Given the description of an element on the screen output the (x, y) to click on. 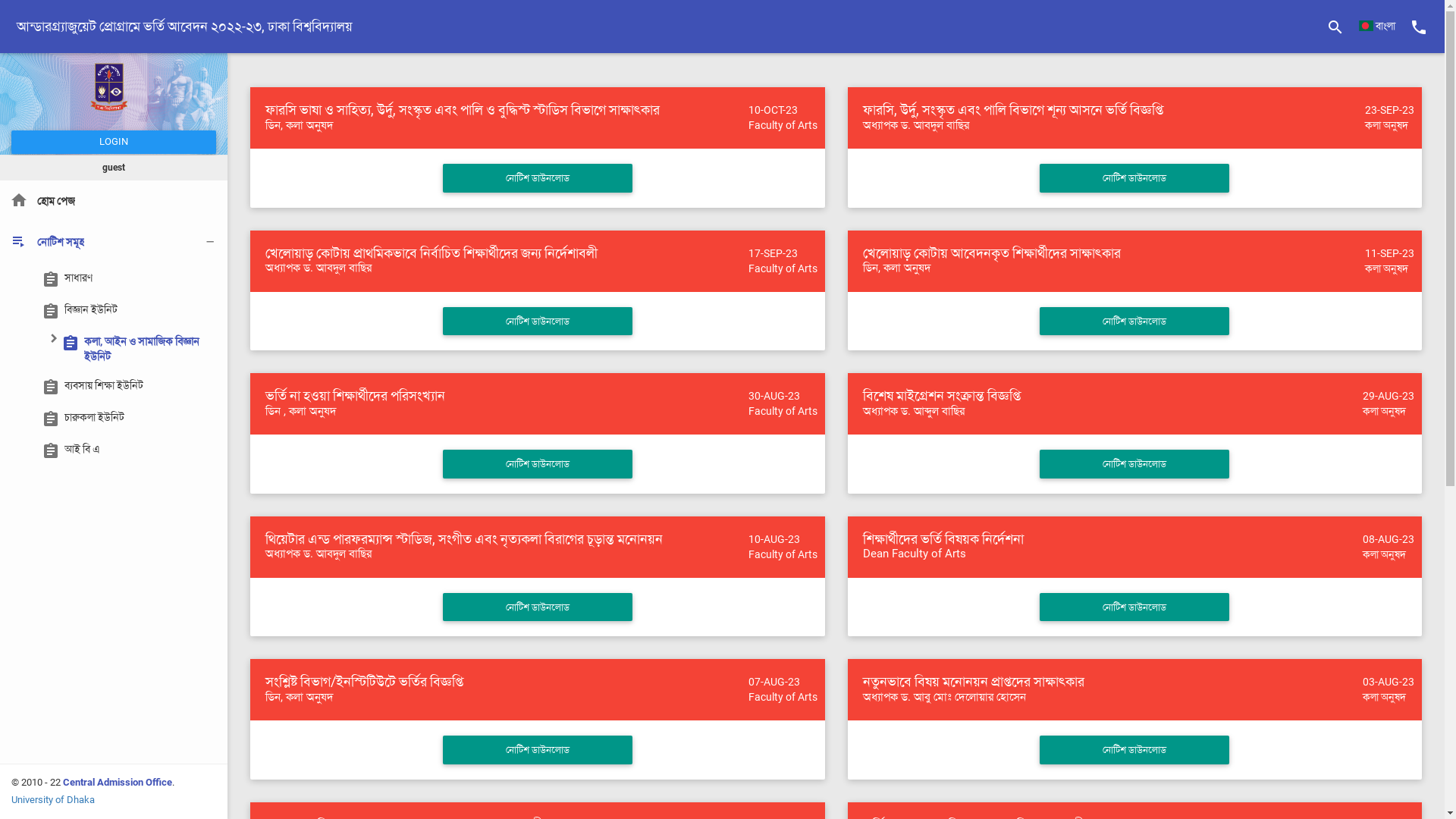
LOGIN Element type: text (113, 141)
phone Element type: text (1418, 26)
Central Admission Office Element type: text (117, 781)
University of Dhaka Element type: text (52, 799)
search Element type: text (1335, 26)
